Given the description of an element on the screen output the (x, y) to click on. 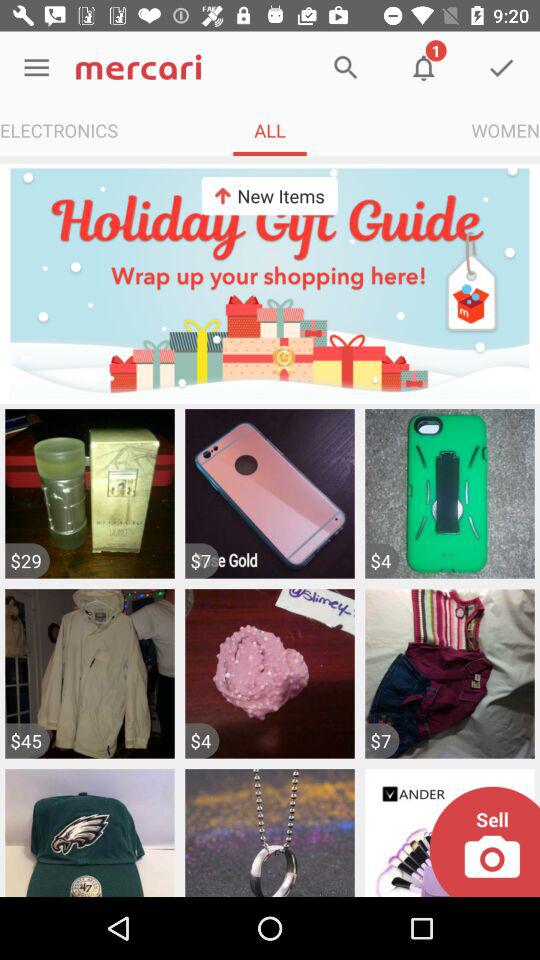
press the app below the all item (269, 196)
